Given the description of an element on the screen output the (x, y) to click on. 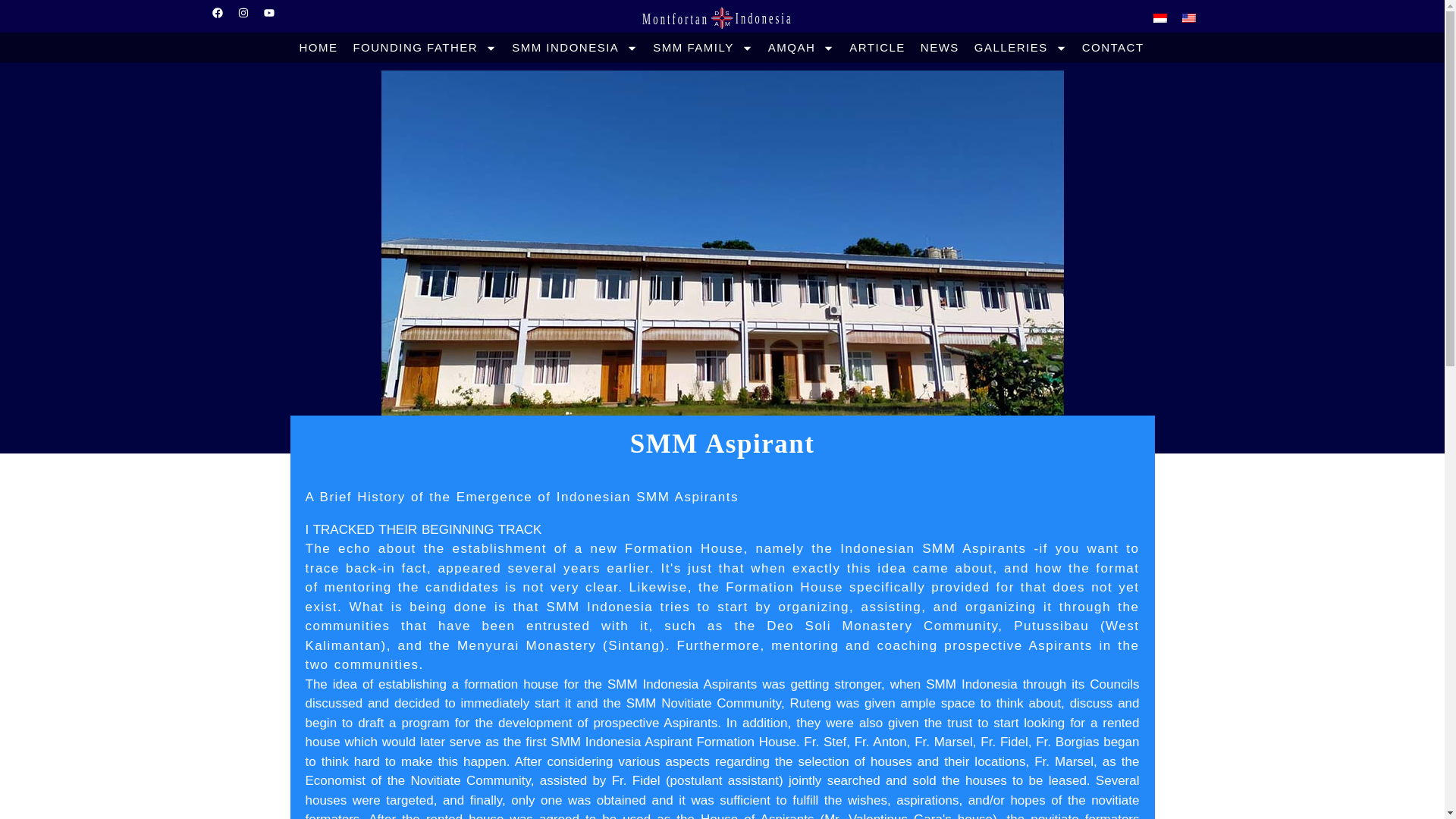
English (1188, 17)
Youtube (274, 17)
AMQAH (801, 47)
HOME (318, 47)
Indonesian (1160, 17)
Instagram (248, 17)
SMM INDONESIA (574, 47)
FOUNDING FATHER (424, 47)
Facebook (222, 17)
SMM FAMILY (702, 47)
